Given the description of an element on the screen output the (x, y) to click on. 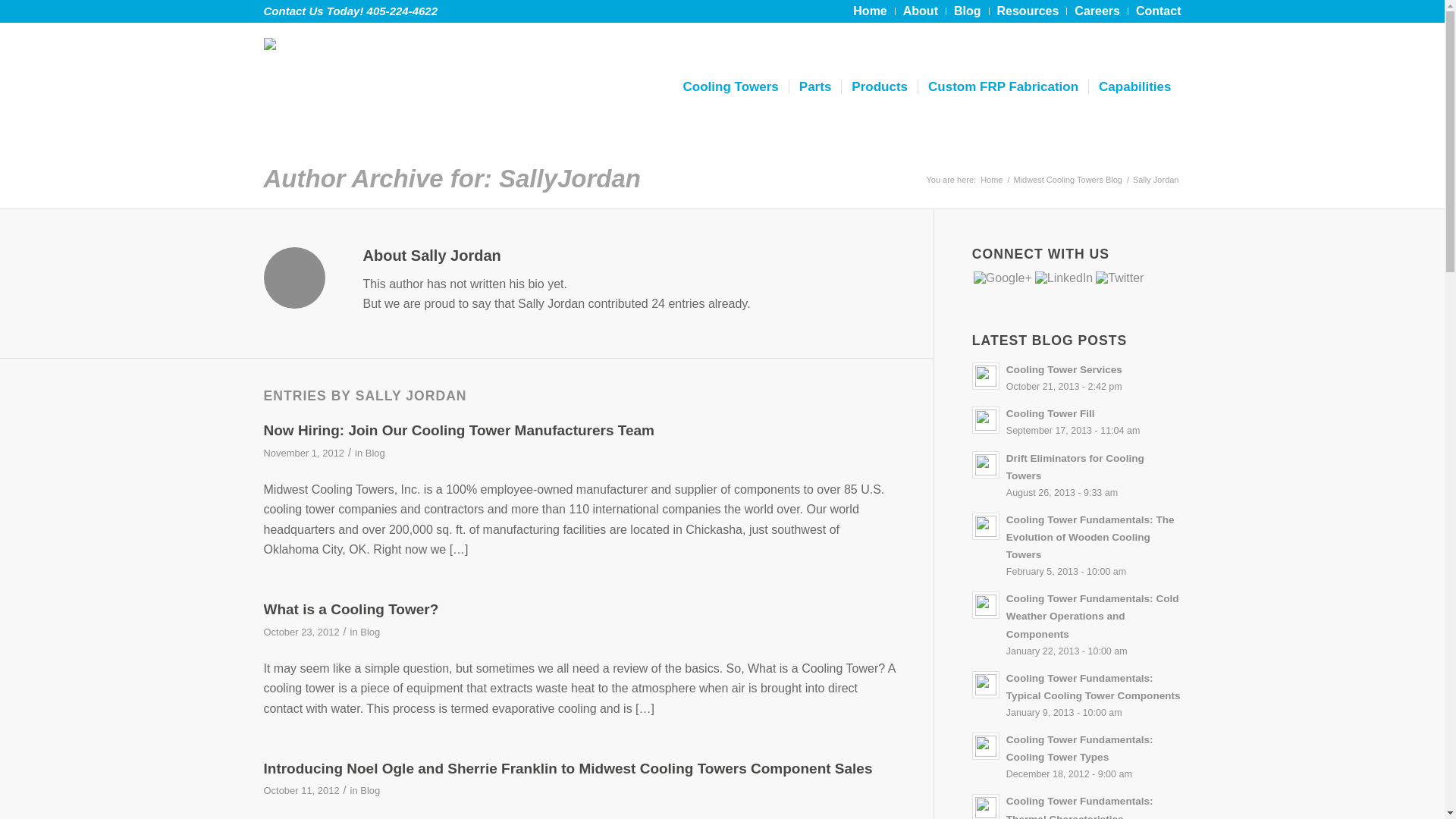
Home (869, 11)
Midwest Cooling Towers (991, 179)
midwest-cooling-tower-logo (334, 86)
Careers (1096, 11)
Resources (1026, 11)
Contact (1157, 11)
Permanent Link: What is a Cooling Tower? (351, 609)
Blog (967, 11)
midwest-cooling-tower-logo (334, 61)
Custom FRP Fabrication (1002, 86)
Cooling Towers (730, 86)
About (919, 11)
Midwest Cooling Towers Blog (1067, 179)
